Given the description of an element on the screen output the (x, y) to click on. 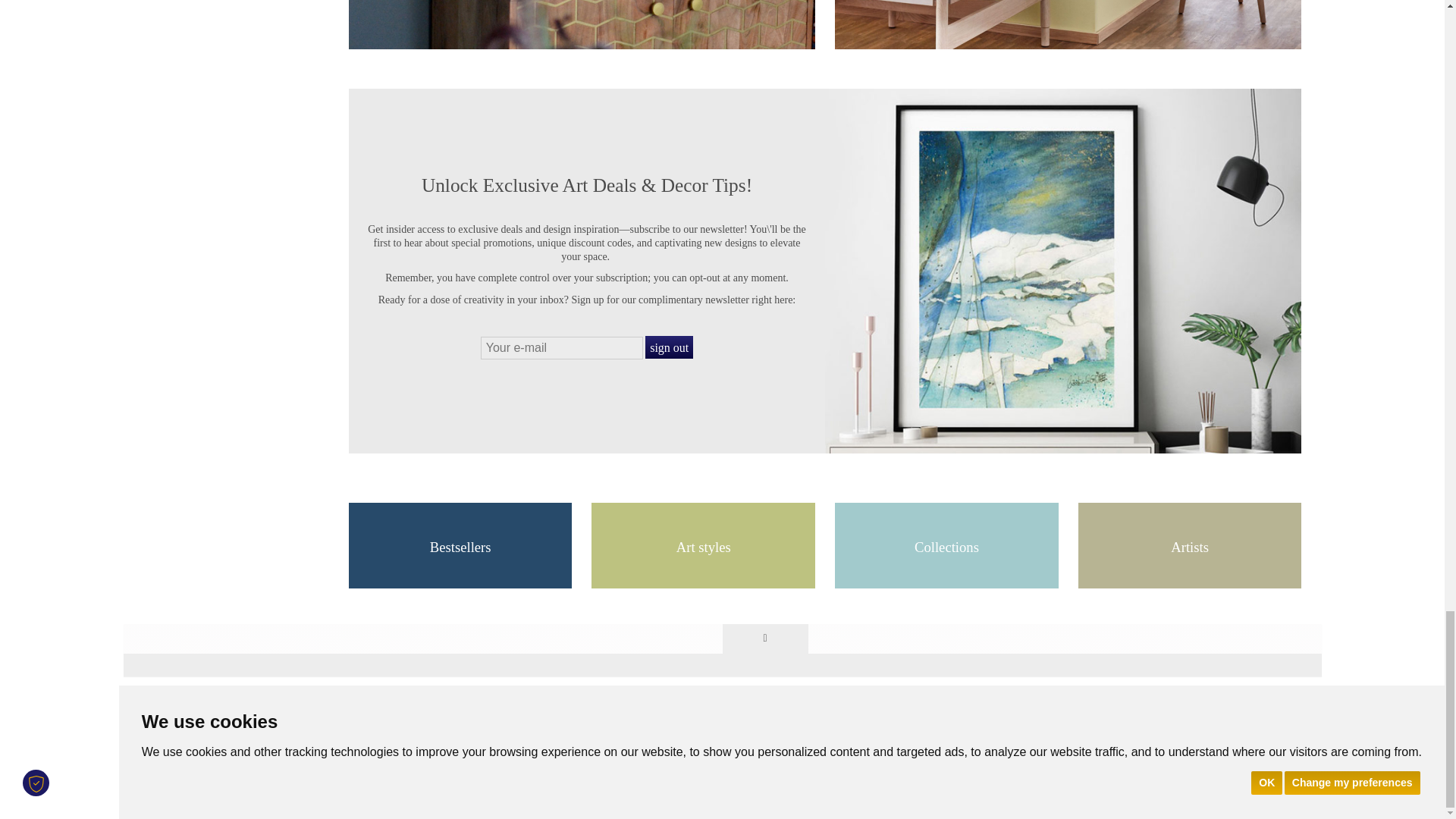
sign out (669, 346)
